Given the description of an element on the screen output the (x, y) to click on. 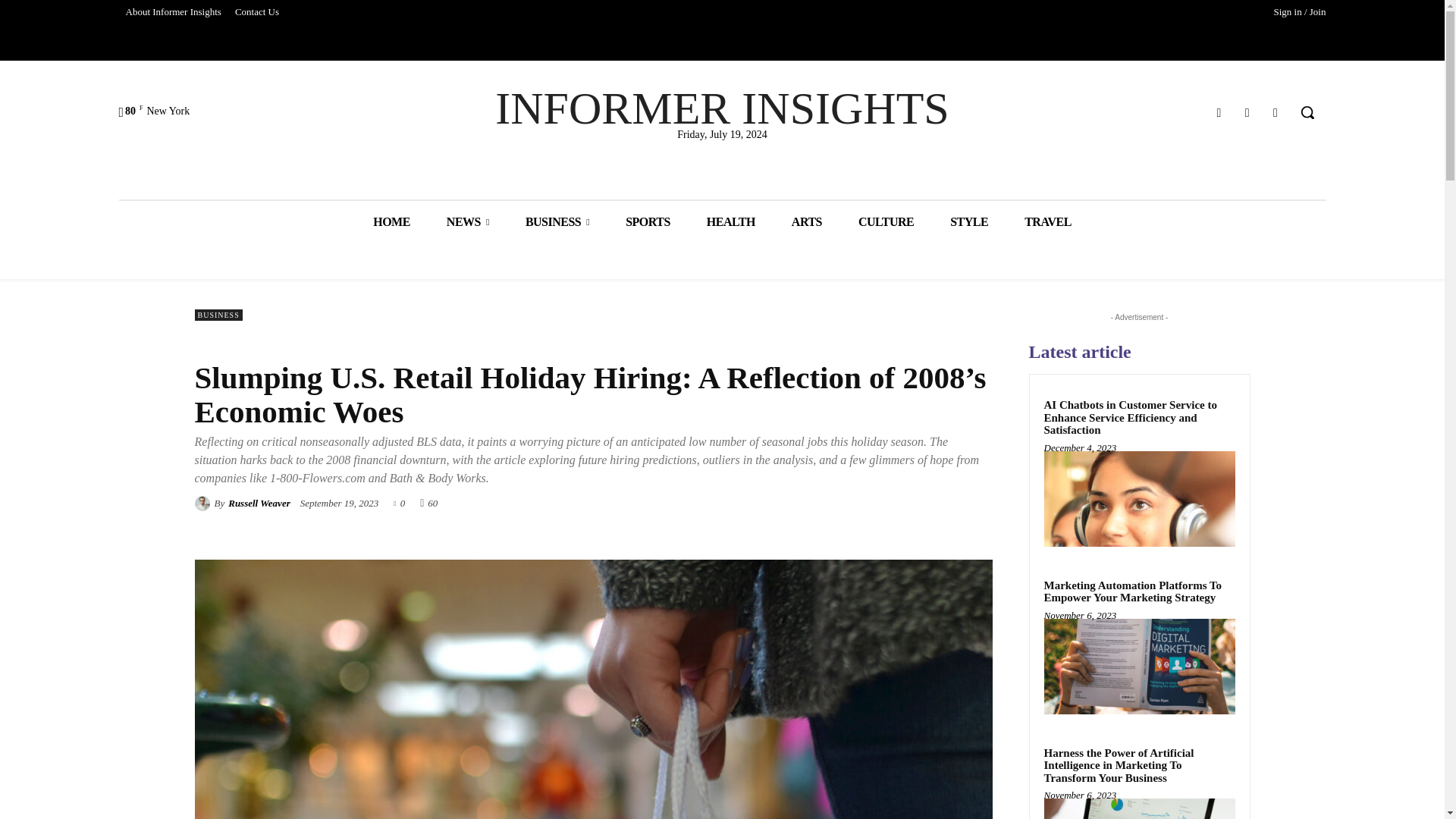
Informer Insights (721, 108)
HOME (391, 221)
INFORMER INSIGHTS (721, 108)
Twitter (1275, 112)
Contact Us (256, 12)
Facebook (1218, 112)
Instagram (1246, 112)
NEWS (467, 221)
About Informer Insights (172, 12)
